Given the description of an element on the screen output the (x, y) to click on. 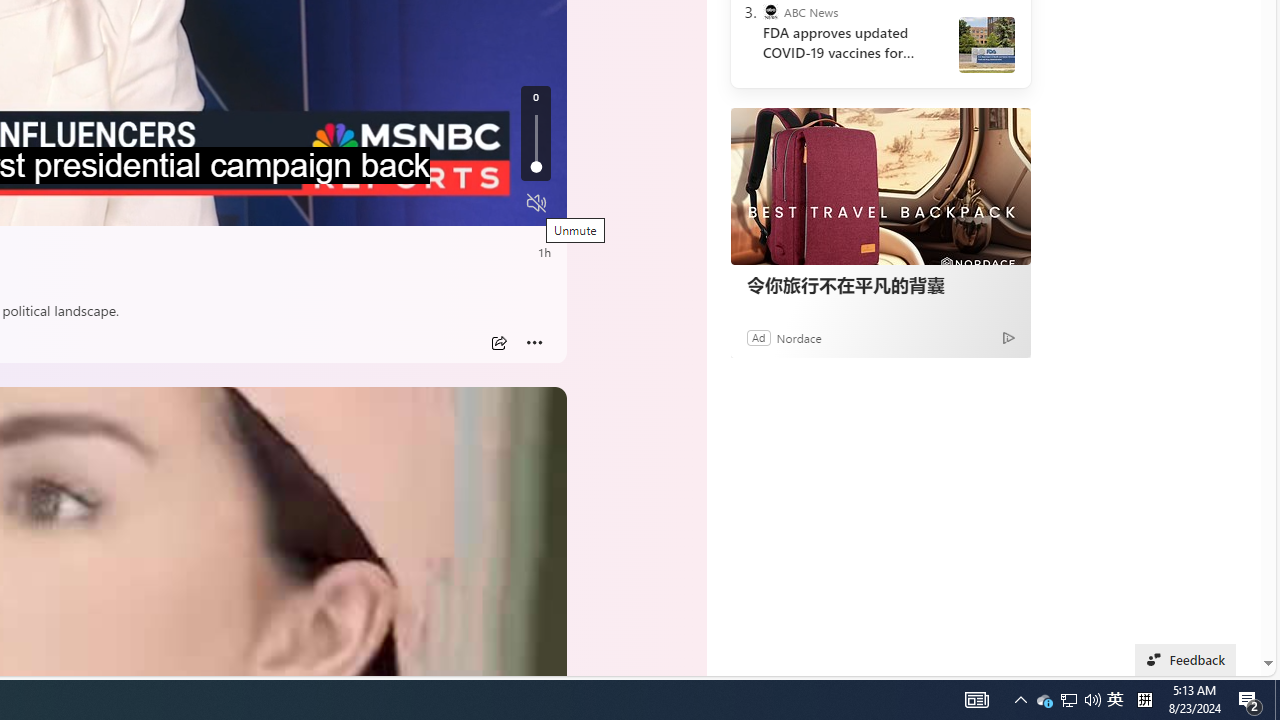
Captions (457, 203)
Unmute (535, 203)
More (534, 343)
Fullscreen (497, 203)
ABC News (770, 12)
Quality Settings (418, 203)
Class: at-item inline-watch (534, 343)
